Given the description of an element on the screen output the (x, y) to click on. 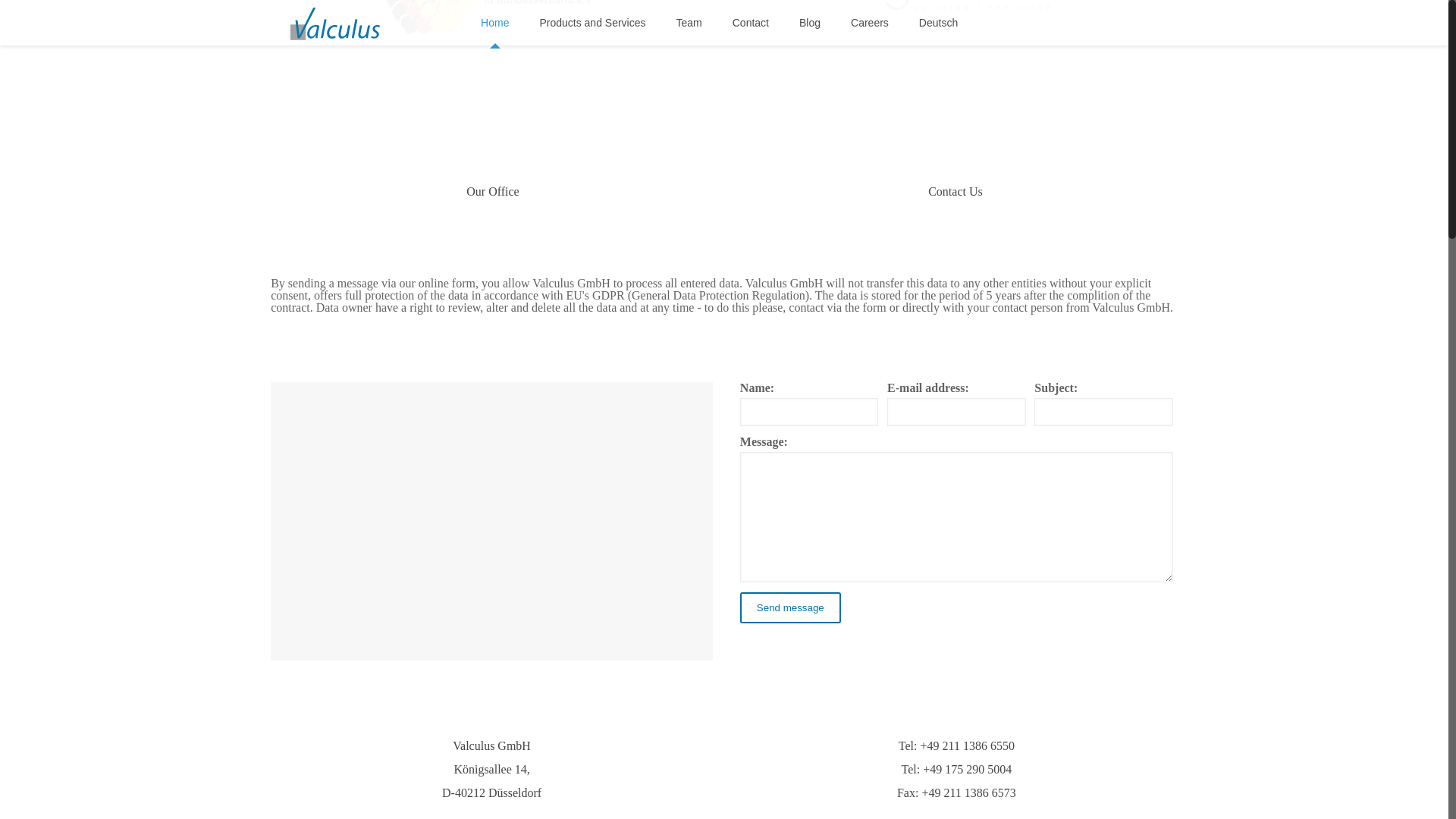
Send message (790, 607)
